Given the description of an element on the screen output the (x, y) to click on. 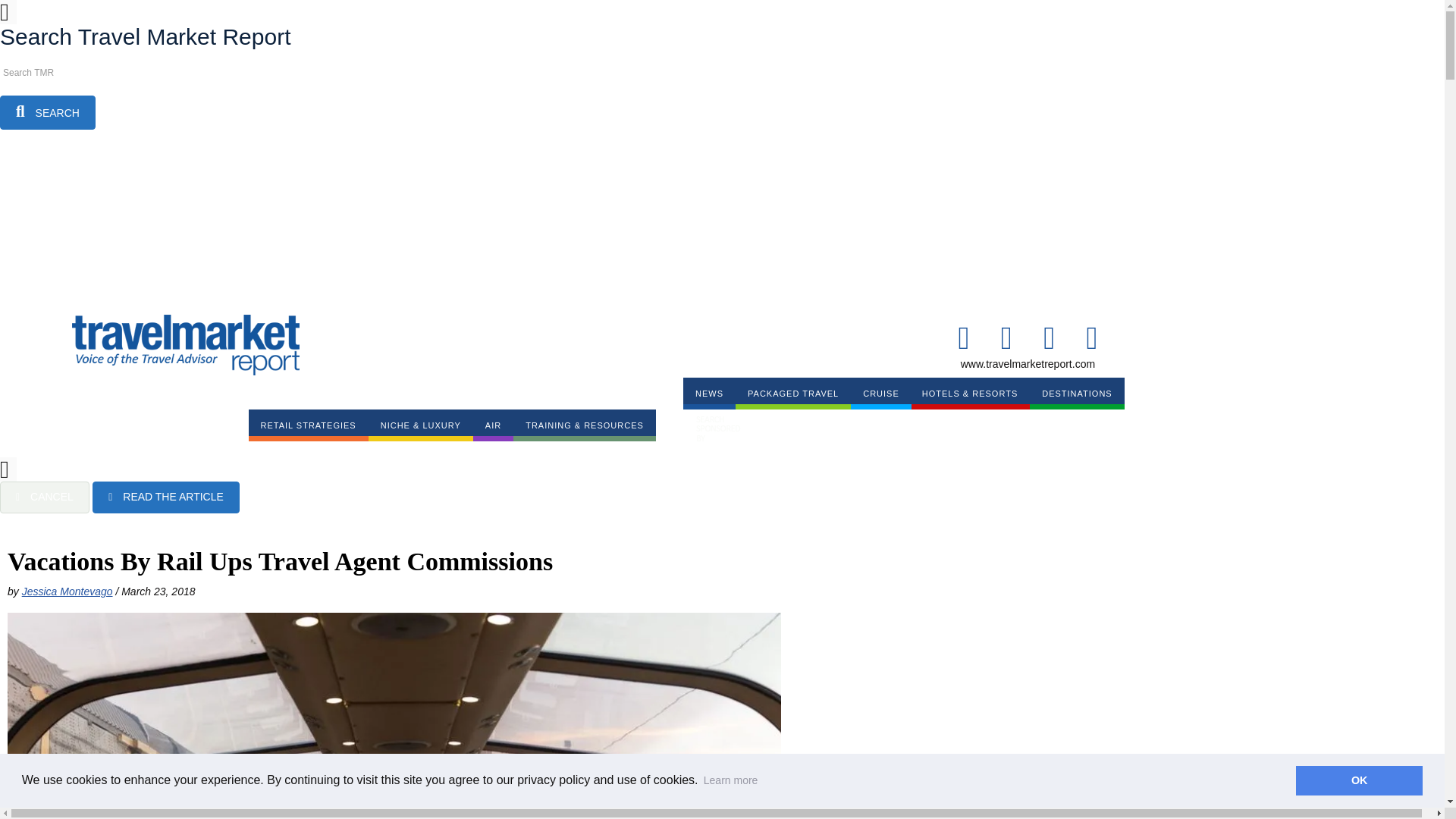
Jessica Montevago (67, 591)
OK (1358, 780)
CANCEL (44, 497)
NEWS (708, 393)
Learn more (730, 780)
READ THE ARTICLE (166, 497)
AIR (493, 425)
Search TMR (68, 72)
DESTINATIONS (1076, 393)
RETAIL STRATEGIES (308, 425)
SEARCH (48, 112)
Search TMR (68, 72)
CRUISE (880, 393)
PACKAGED TRAVEL (792, 393)
